Given the description of an element on the screen output the (x, y) to click on. 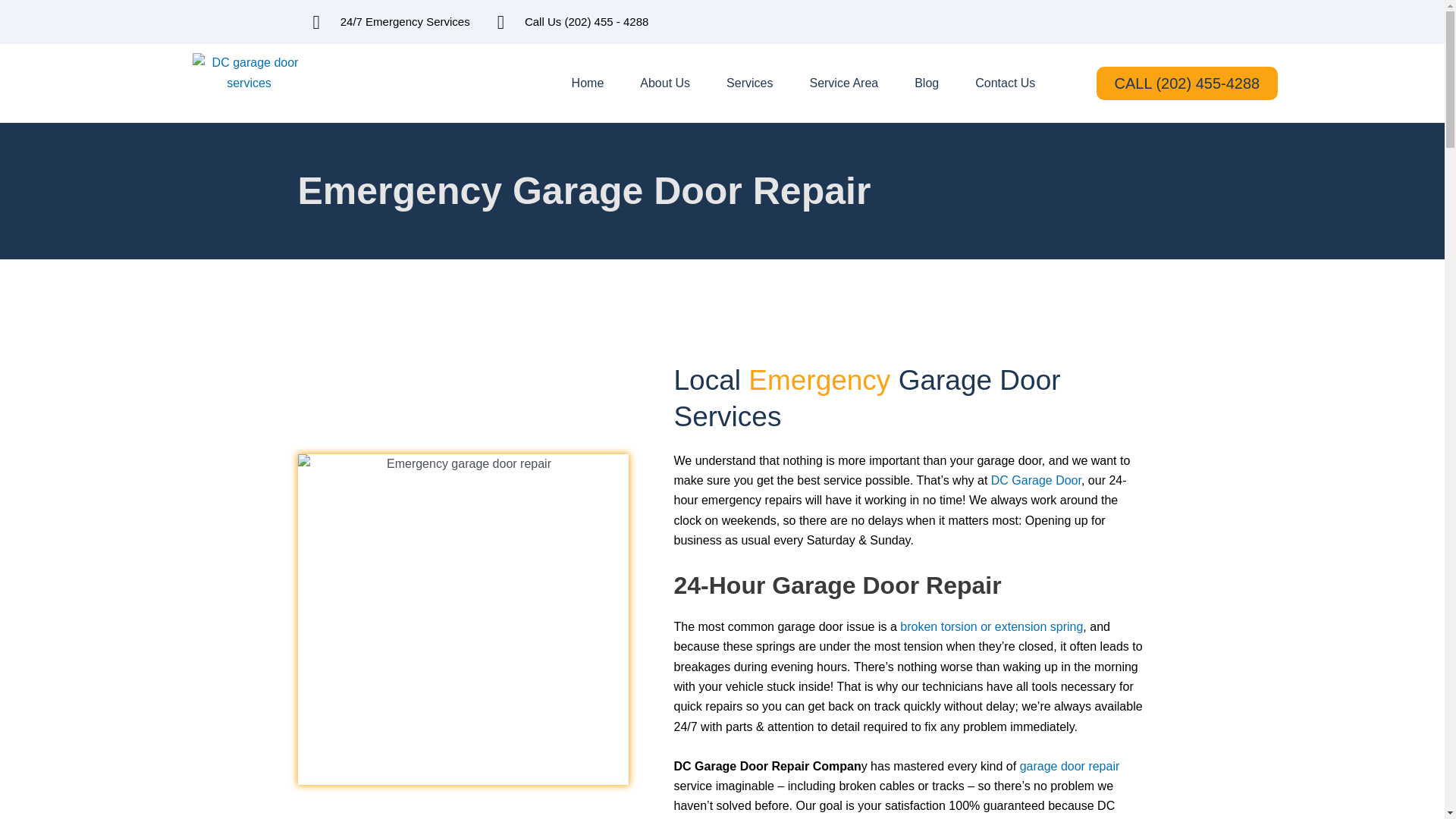
Contact Us (1004, 83)
Blog (926, 83)
DC Garage Door (248, 83)
Home (588, 83)
Services (748, 83)
About Us (664, 83)
Service Area (843, 83)
